Given the description of an element on the screen output the (x, y) to click on. 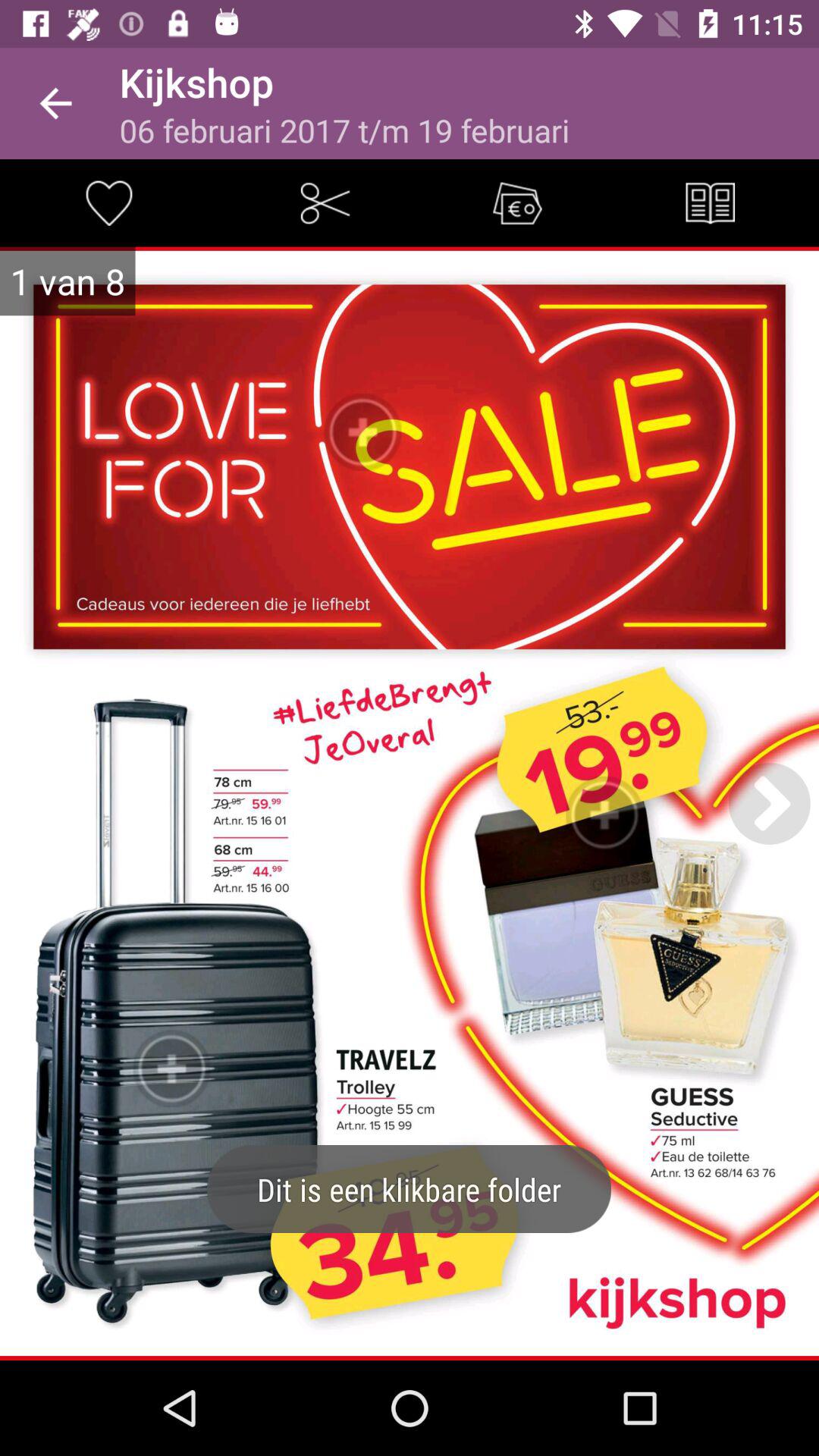
crop image (324, 202)
